Given the description of an element on the screen output the (x, y) to click on. 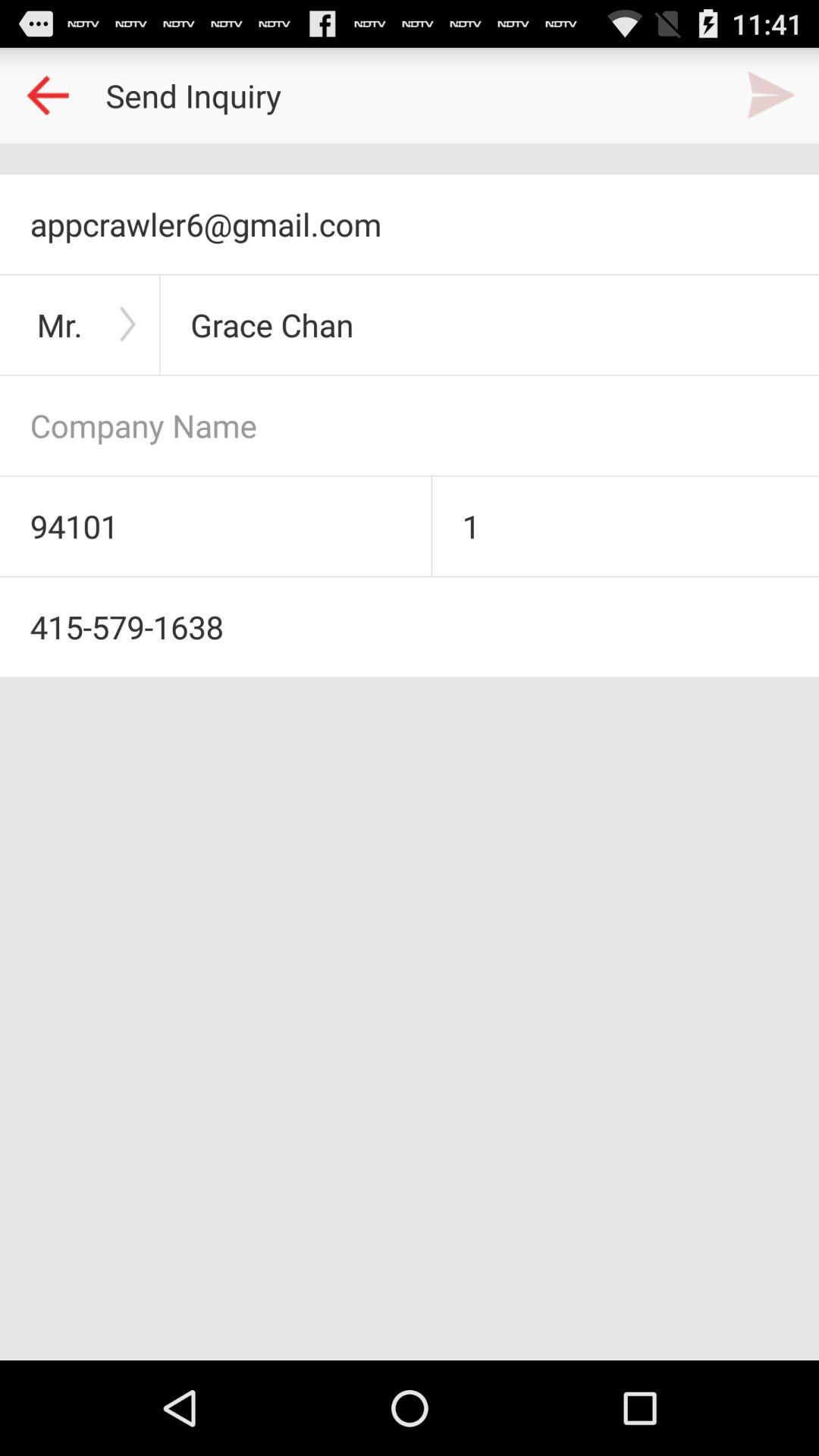
go to back arrow (47, 95)
